Given the description of an element on the screen output the (x, y) to click on. 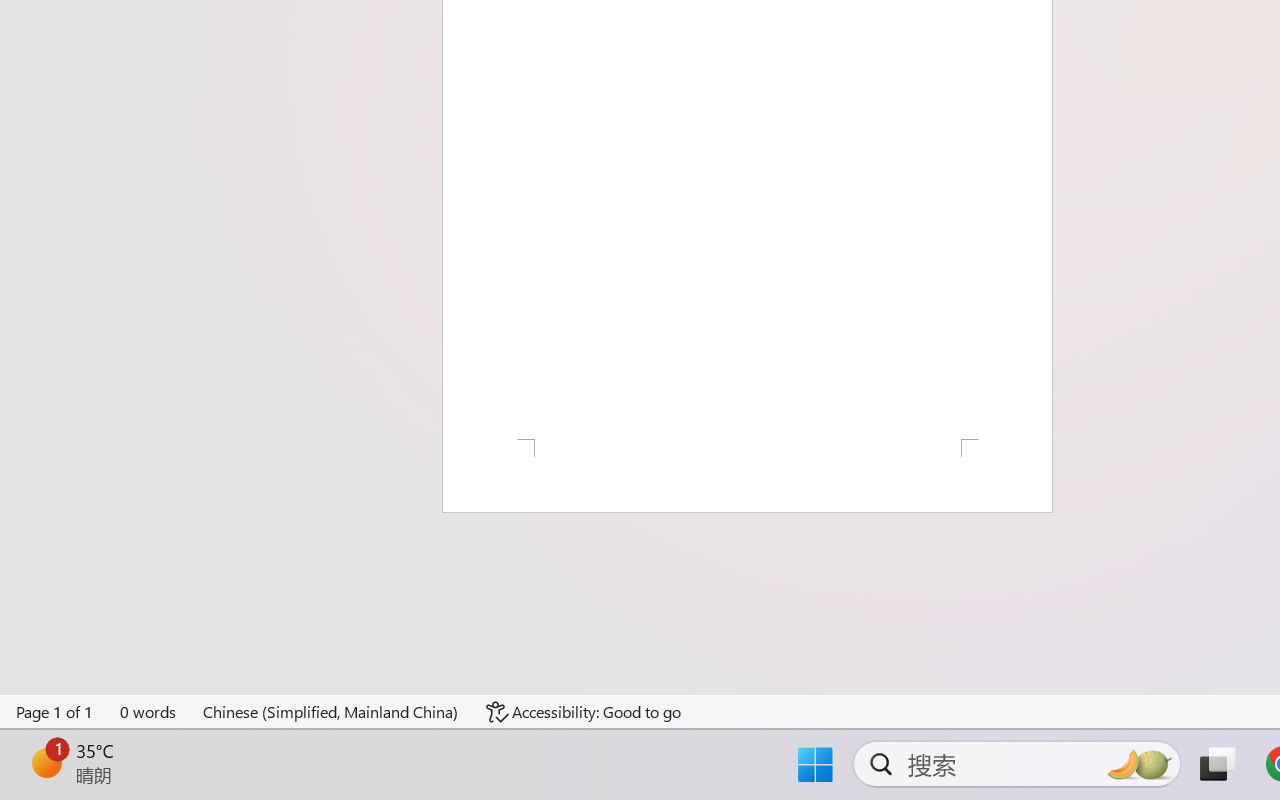
Language Chinese (Simplified, Mainland China) (331, 712)
